Given the description of an element on the screen output the (x, y) to click on. 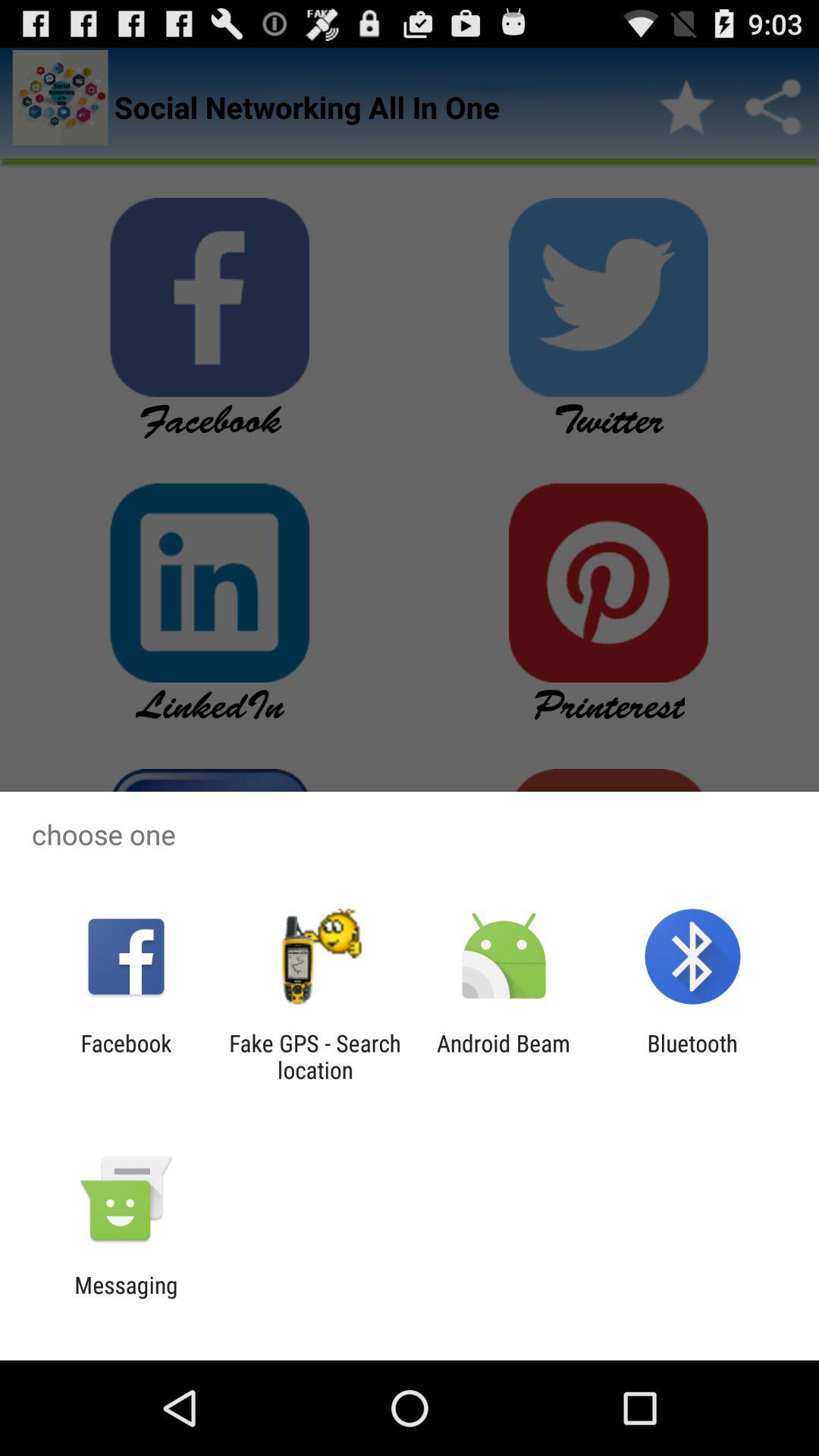
flip to the android beam icon (503, 1056)
